Given the description of an element on the screen output the (x, y) to click on. 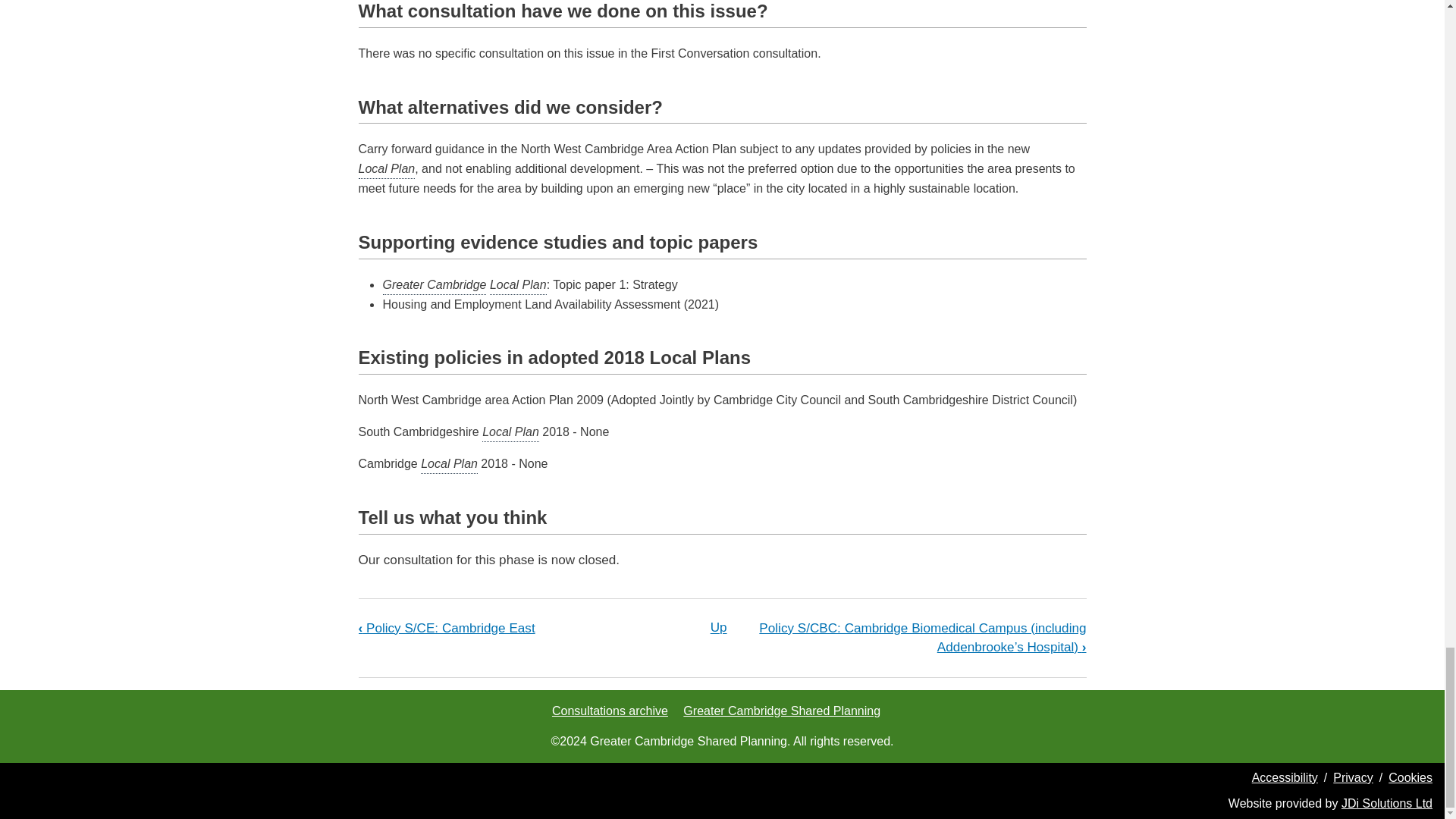
Go to next page (922, 637)
Local Plan (386, 169)
Local Plan (518, 284)
Greater Cambridge (433, 284)
Go to previous page (446, 627)
Local Plan (509, 432)
Local Plan (448, 464)
